Given the description of an element on the screen output the (x, y) to click on. 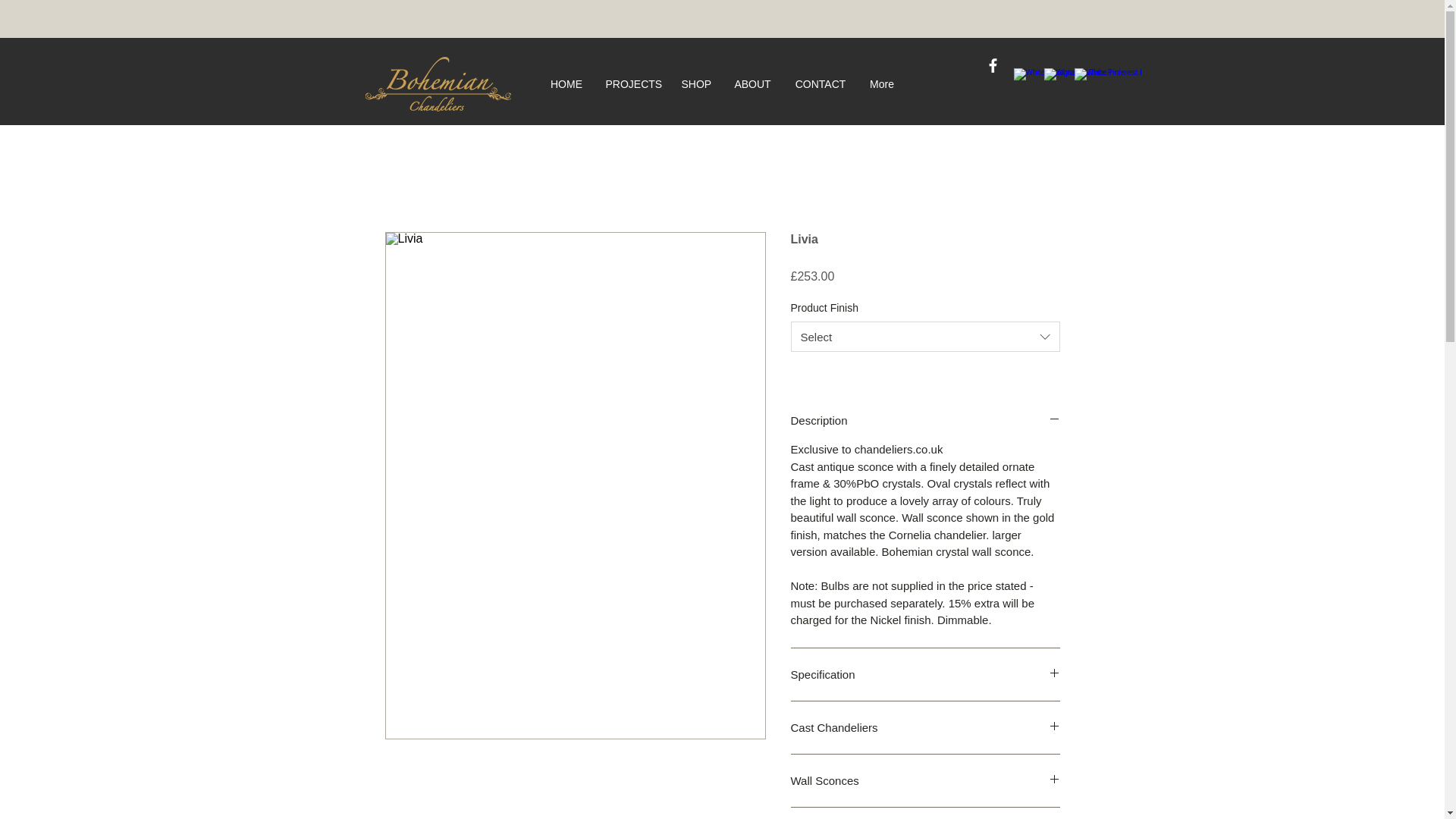
Specification (924, 674)
Description (924, 420)
CONTACT (820, 83)
HOME (566, 83)
PROJECTS (631, 83)
Select (924, 336)
ABOUT (752, 83)
Cast Chandeliers (924, 727)
Wall Sconces (924, 780)
SHOP (695, 83)
